Given the description of an element on the screen output the (x, y) to click on. 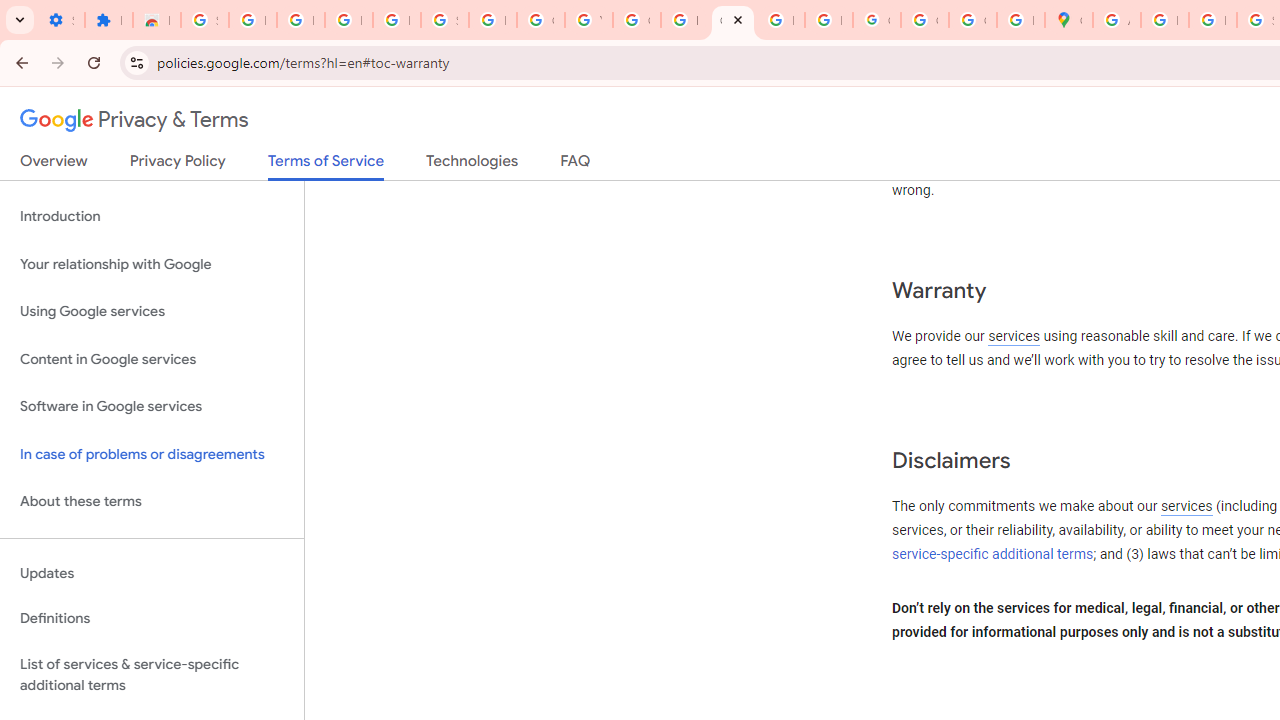
Definitions (152, 619)
Sign in - Google Accounts (444, 20)
Settings - On startup (60, 20)
